Given the description of an element on the screen output the (x, y) to click on. 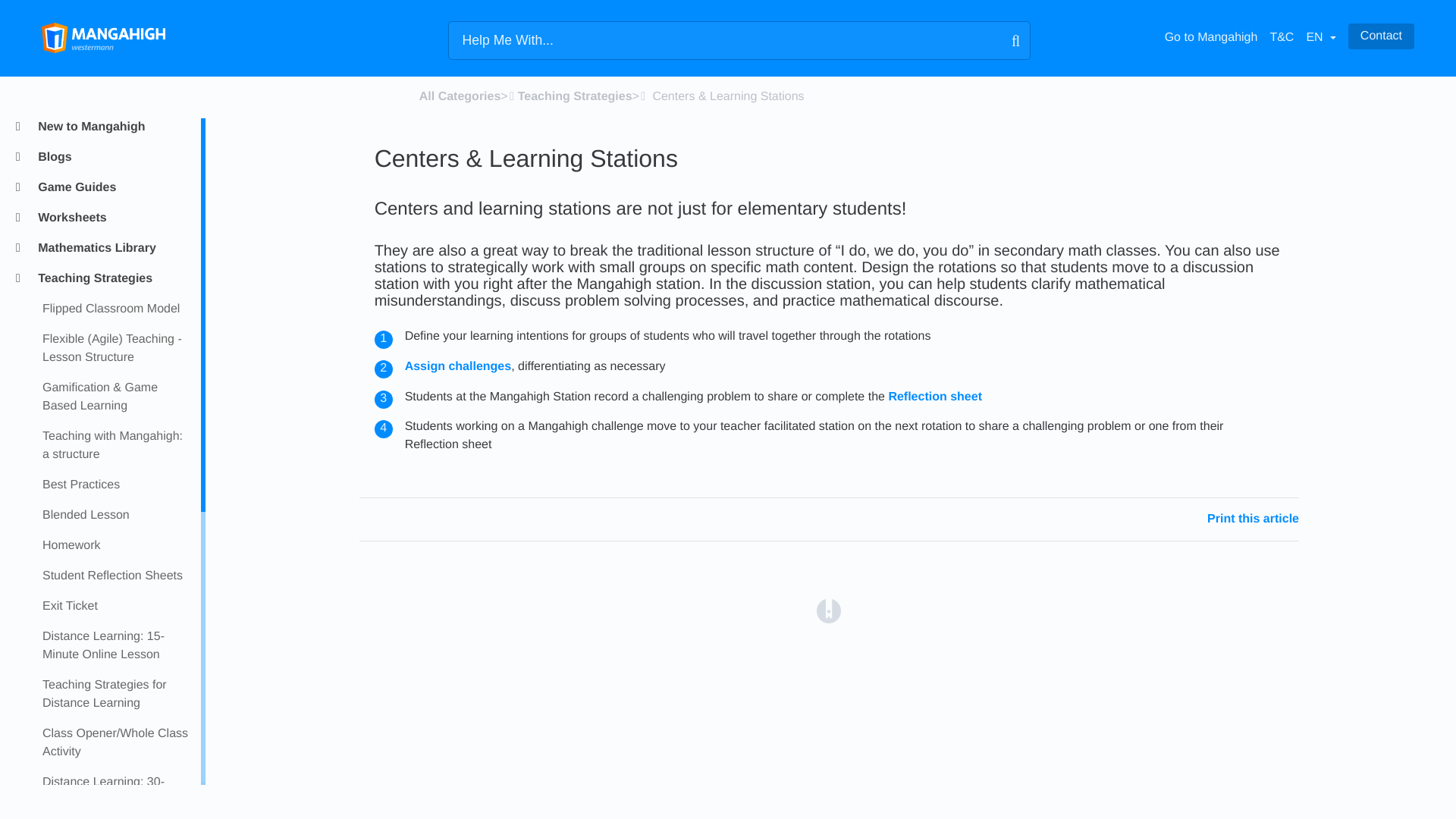
EN (1320, 37)
New to Mangahigh (112, 126)
Blogs (112, 157)
Go to Mangahigh (1210, 37)
Contact (1380, 36)
Powered by HelpDocs (828, 610)
